Given the description of an element on the screen output the (x, y) to click on. 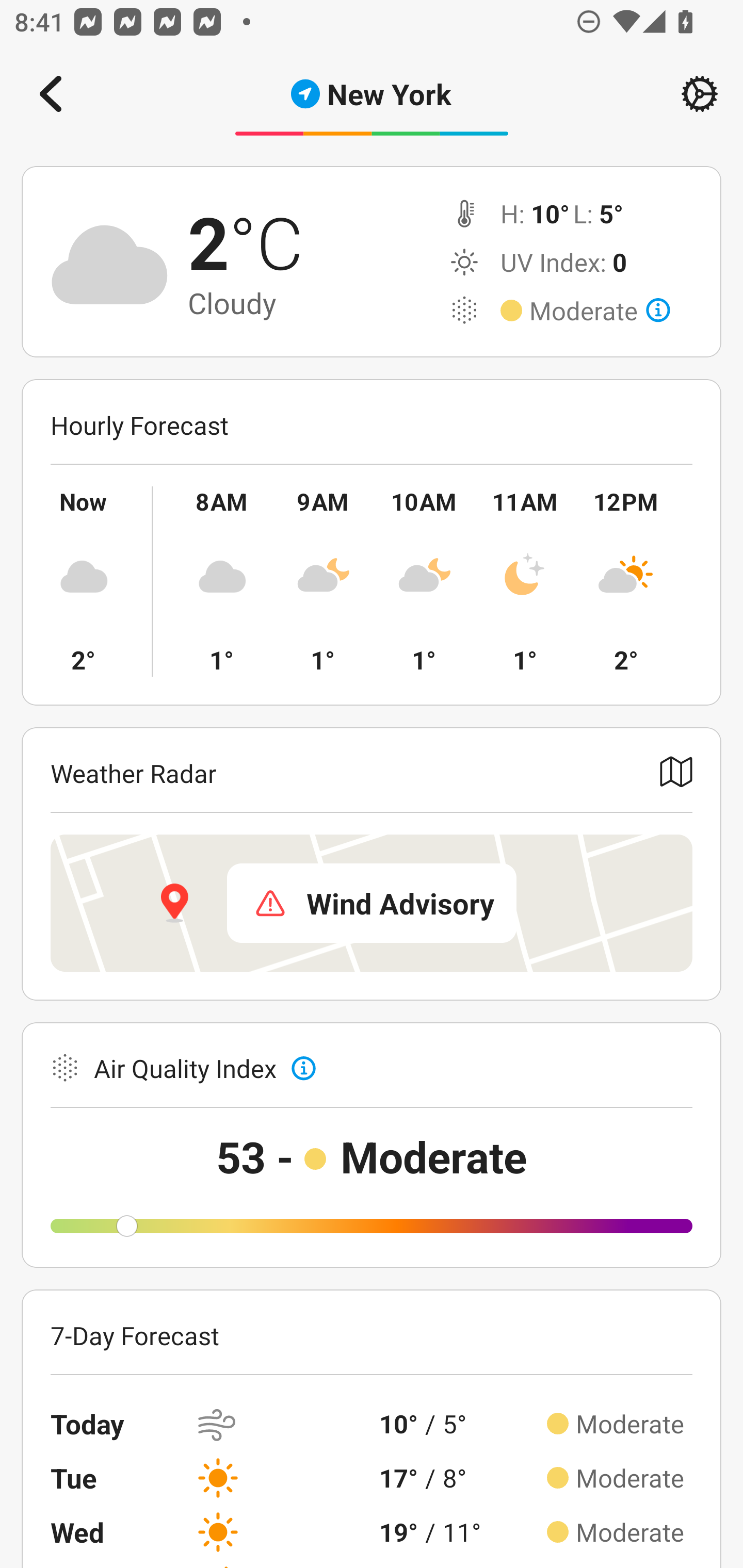
Navigate up (50, 93)
Setting (699, 93)
Moderate (599, 310)
Wind Advisory (371, 903)
